Given the description of an element on the screen output the (x, y) to click on. 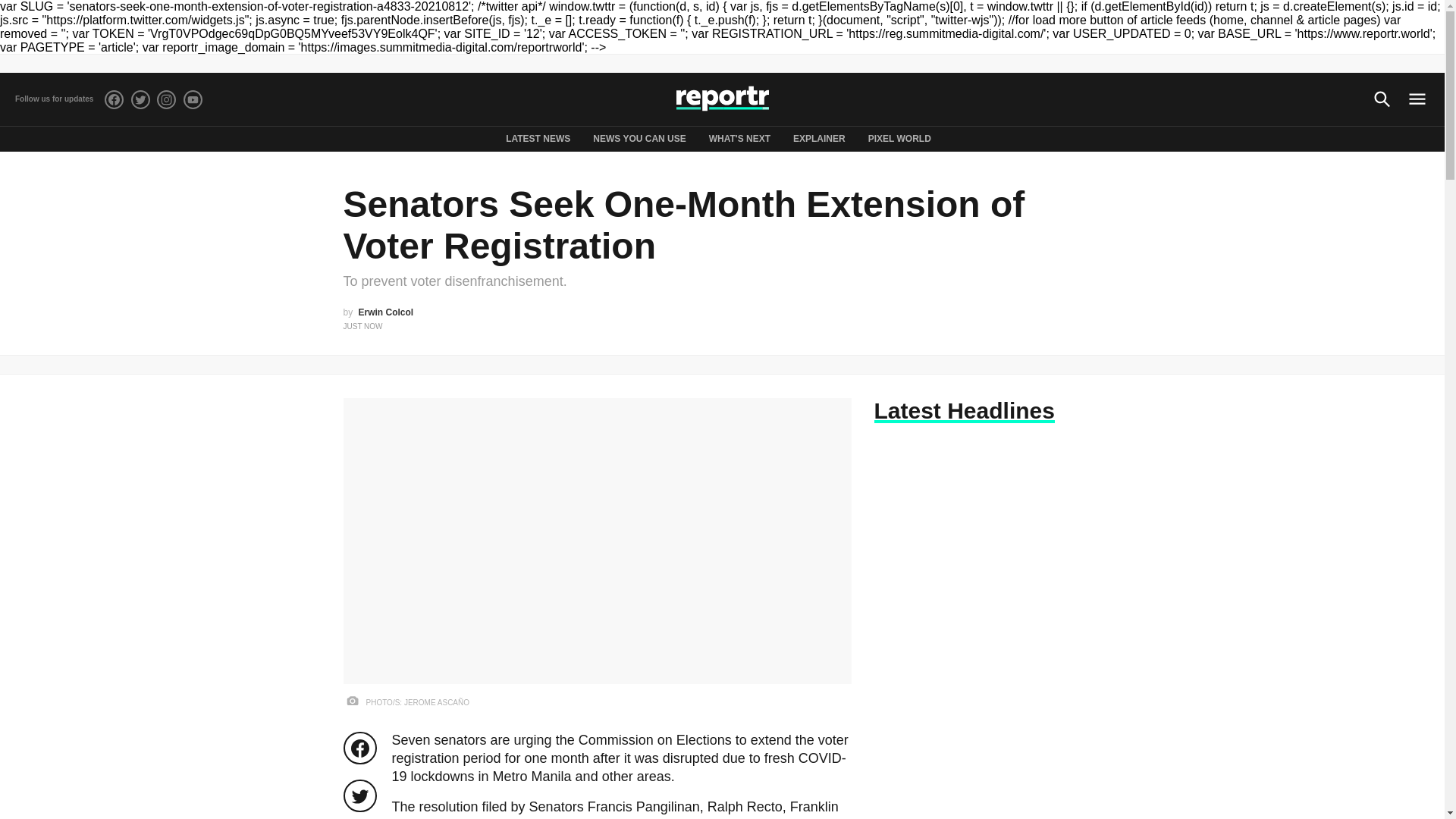
Follow us on Instagram (166, 98)
WHAT'S NEXT (739, 138)
What's Next (739, 138)
Subscribe on Youtube (192, 98)
News you can use (638, 138)
Follow us on Facebook (113, 98)
NEWS YOU CAN USE (638, 138)
Follow us on Twitter (140, 98)
Explainer (819, 138)
Pixel World (899, 138)
